Given the description of an element on the screen output the (x, y) to click on. 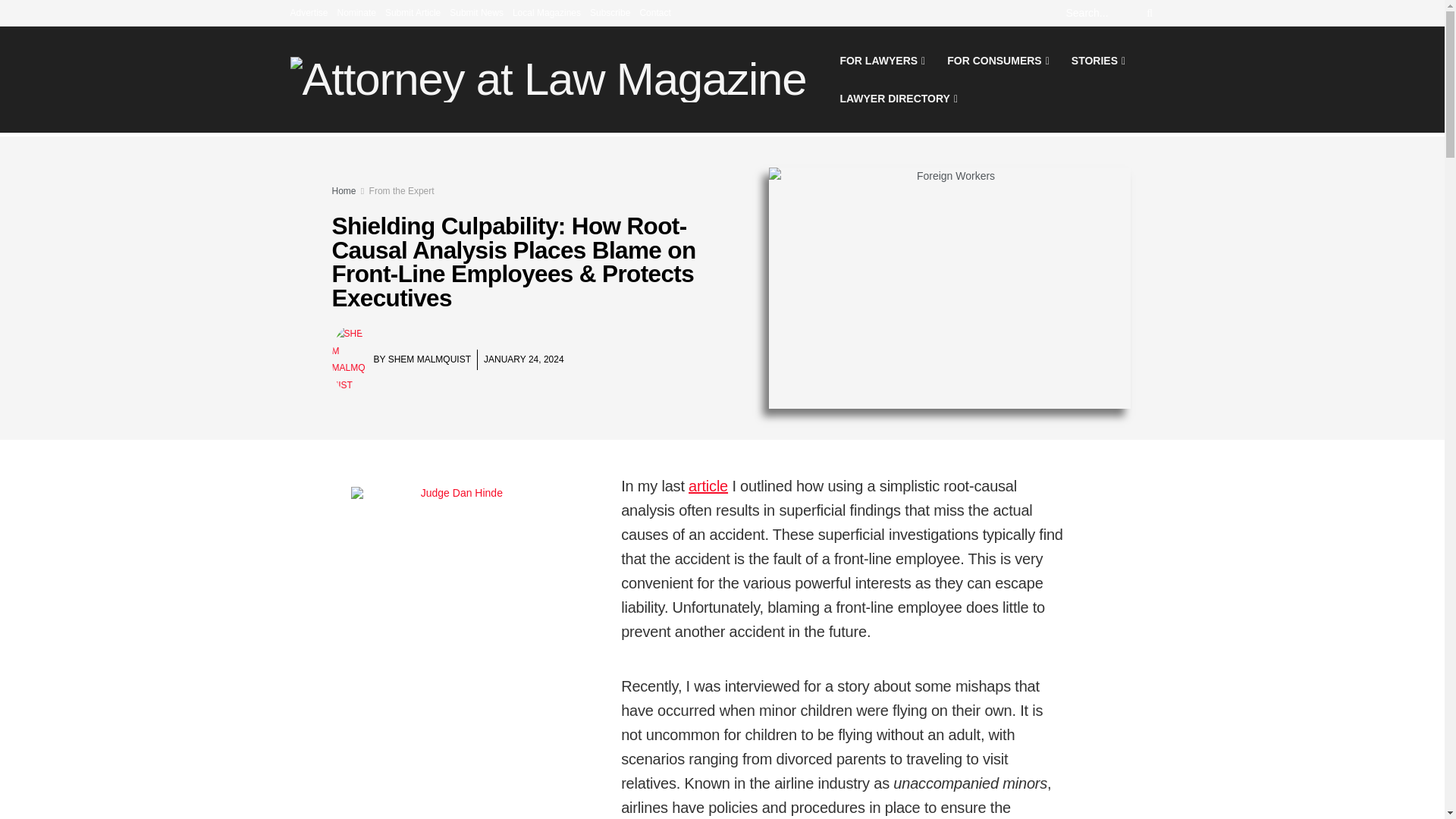
Subscribe (609, 12)
Advertise (308, 12)
Nominate (356, 12)
FOR LAWYERS (880, 60)
Submit News (476, 12)
STORIES (1097, 60)
Local Magazines (546, 12)
Contact (654, 12)
FOR CONSUMERS (996, 60)
Submit Article (413, 12)
